Given the description of an element on the screen output the (x, y) to click on. 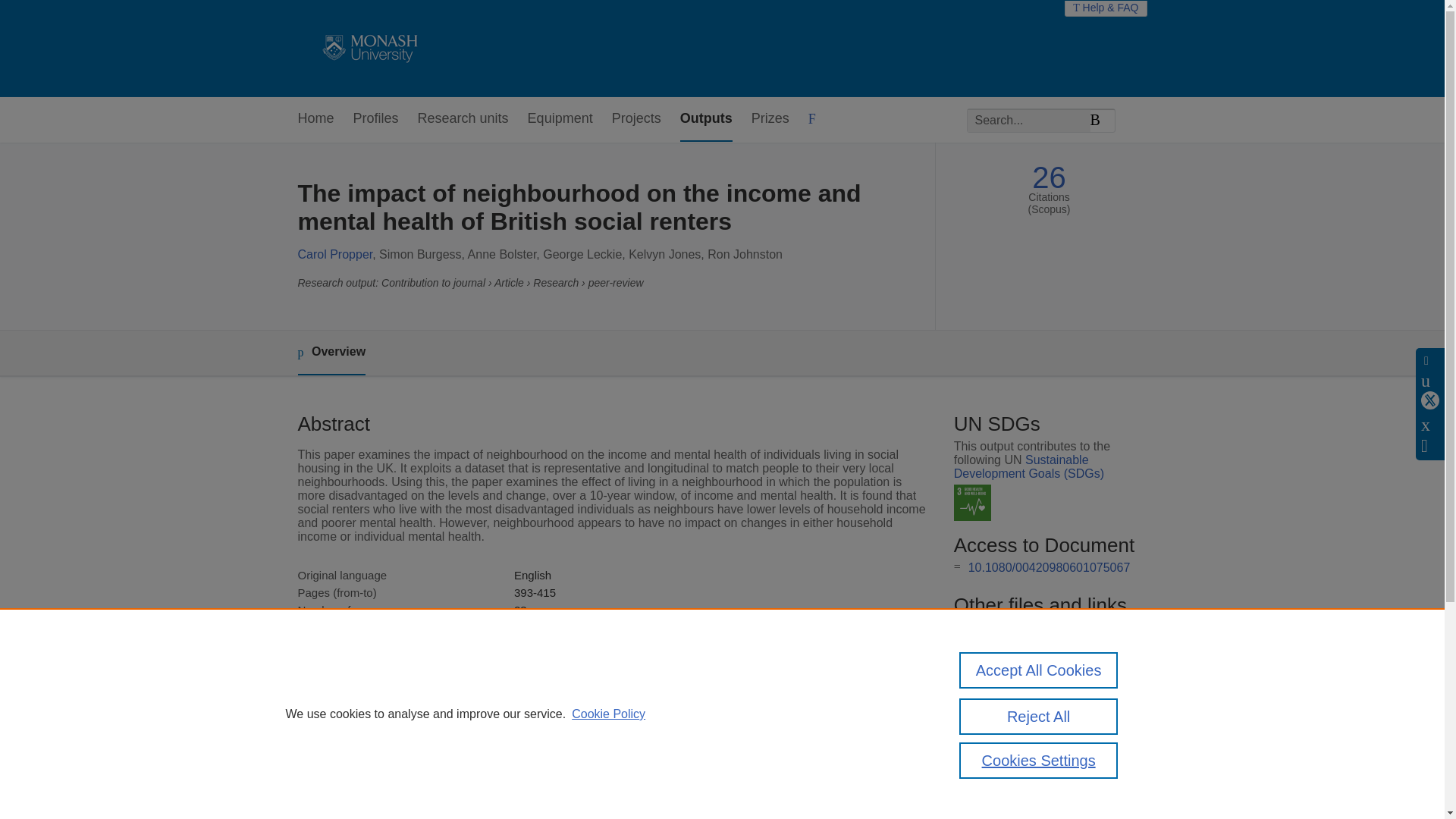
Cookie Policy (608, 713)
26 (1048, 177)
Profiles (375, 119)
Monash University Home (366, 48)
SDG 3 - Good Health and Well-being (972, 502)
Link to publication in Scopus (1045, 626)
Research units (462, 119)
Projects (636, 119)
Outputs (705, 119)
